Given the description of an element on the screen output the (x, y) to click on. 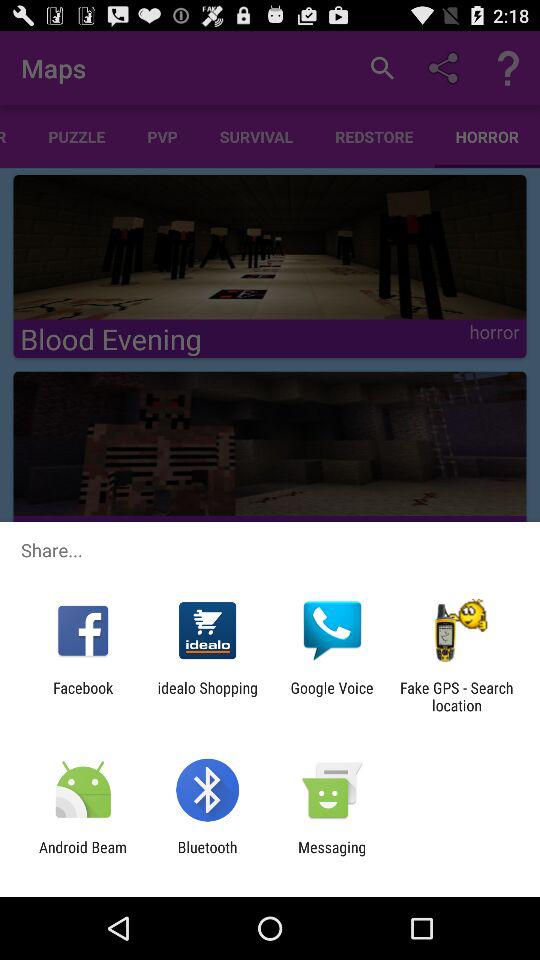
open the bluetooth app (207, 856)
